Given the description of an element on the screen output the (x, y) to click on. 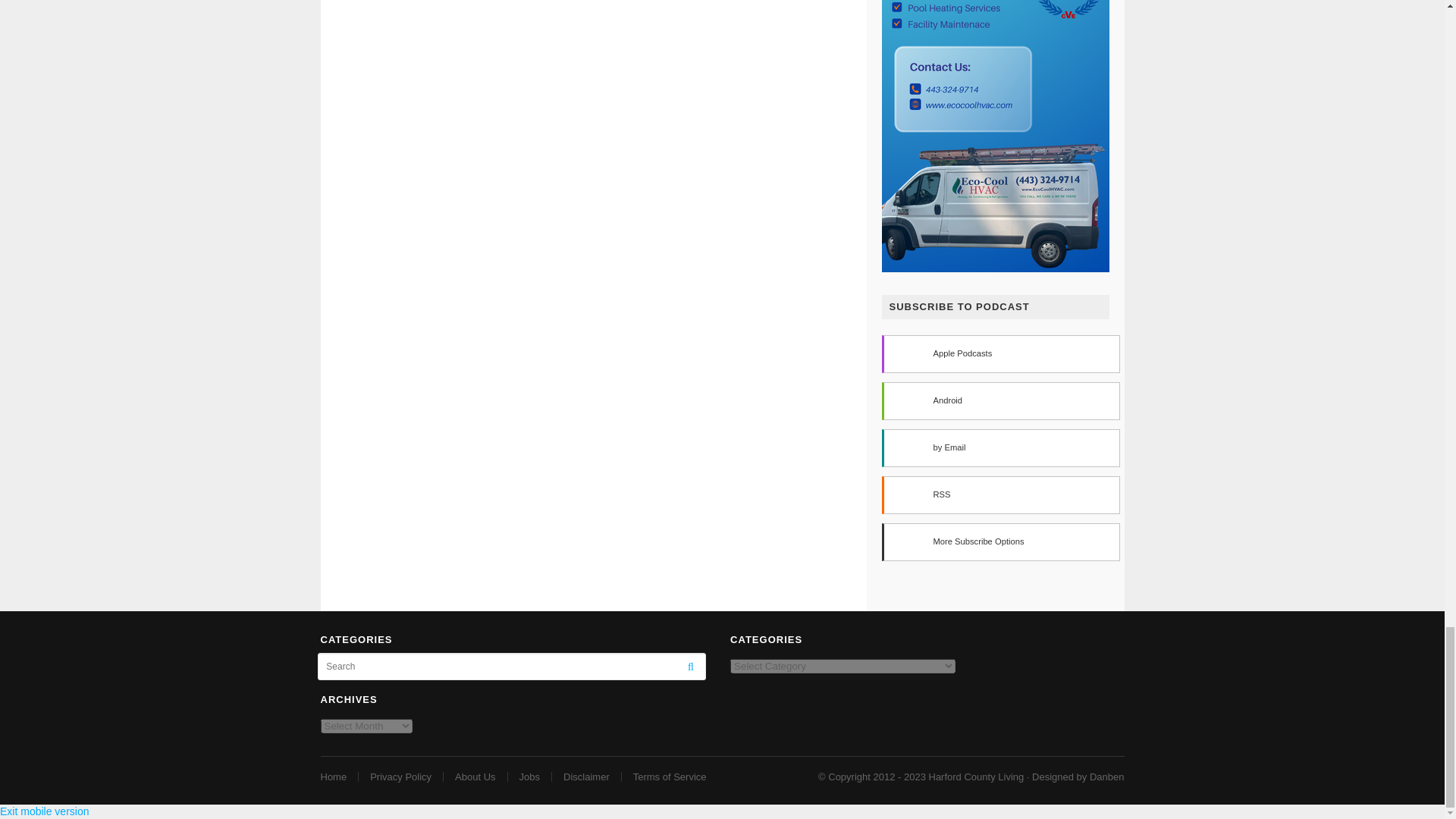
Subscribe on Apple Podcasts (999, 353)
Subscribe by Email (999, 447)
Subscribe on Android (999, 401)
More Subscribe Options (999, 542)
Subscribe via RSS (999, 494)
